Given the description of an element on the screen output the (x, y) to click on. 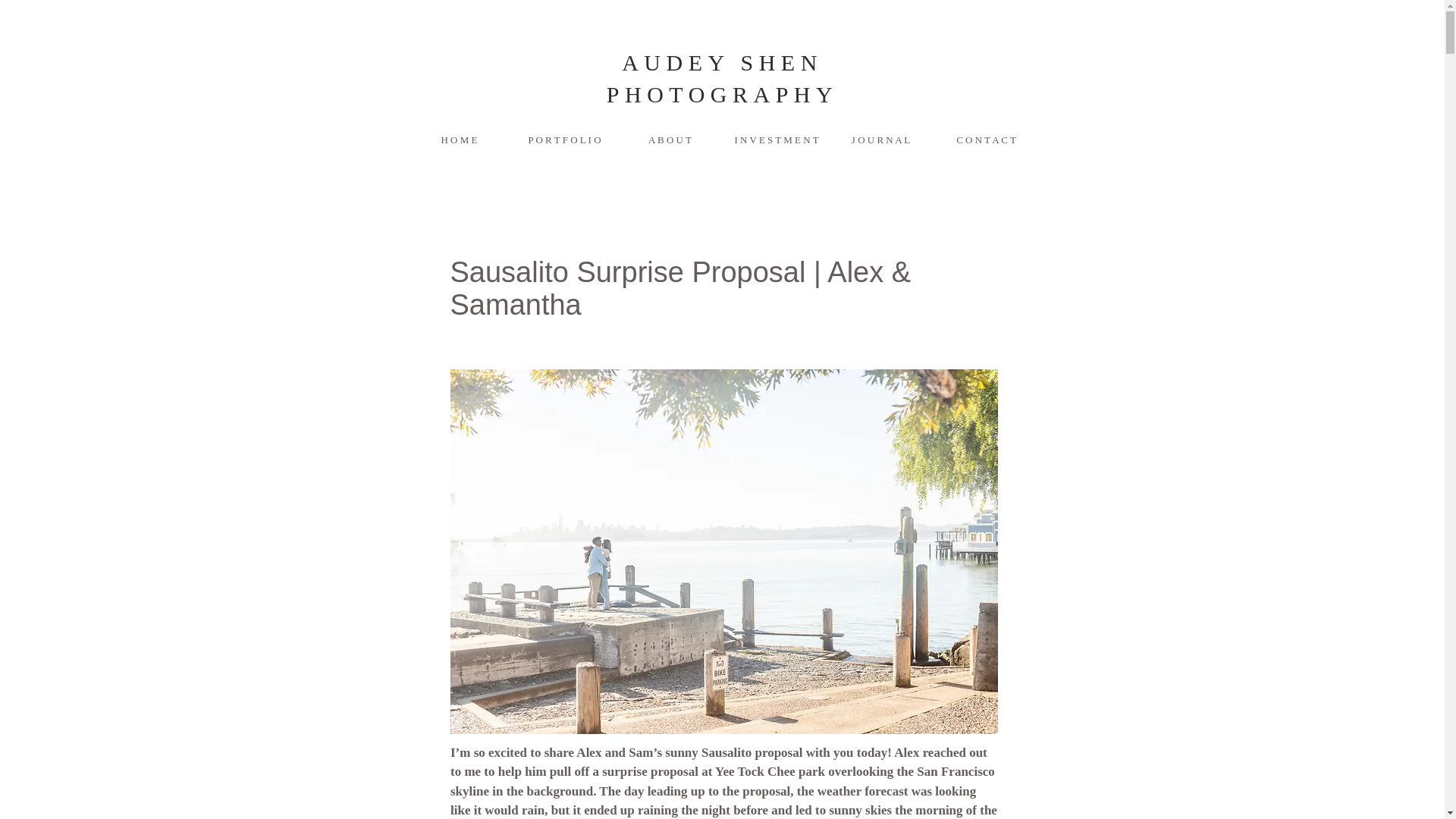
J O U R N A L (880, 139)
P O R T F O L I O (563, 139)
AUDEY SHEN PHOTOGRAPHY (722, 78)
H O M E (459, 139)
I N V E S T M E N T (774, 139)
A B O U T (669, 139)
C O N T A C T (985, 139)
